Given the description of an element on the screen output the (x, y) to click on. 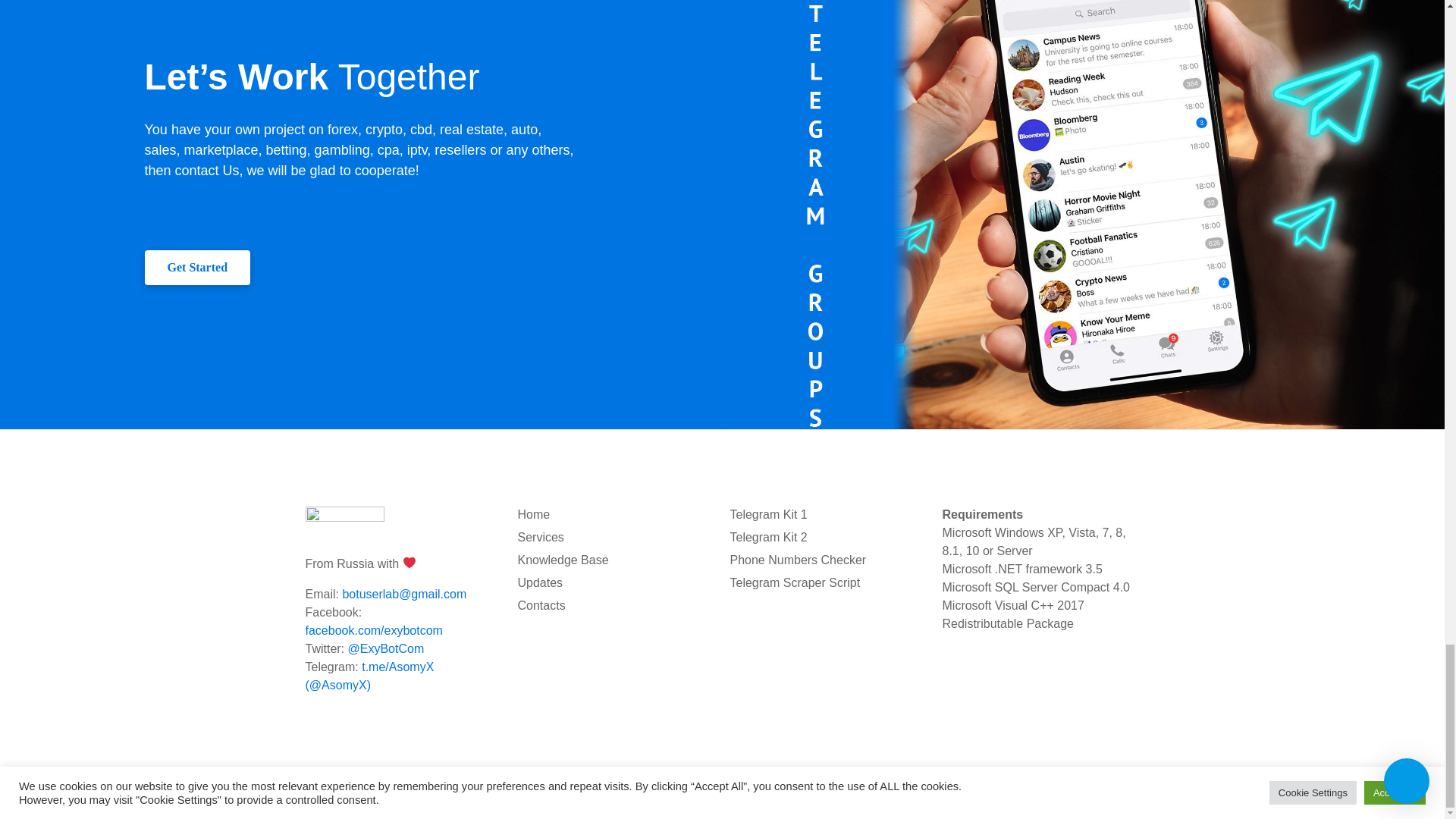
Updates (1055, 787)
Telegram Kit 1 (767, 513)
Knowledge Base (975, 787)
Services (895, 787)
Updates (539, 582)
Telegram Scraper Script (794, 582)
Home (533, 513)
Telegram Kit 2 (767, 536)
Contacts (540, 604)
Services (539, 536)
